Given the description of an element on the screen output the (x, y) to click on. 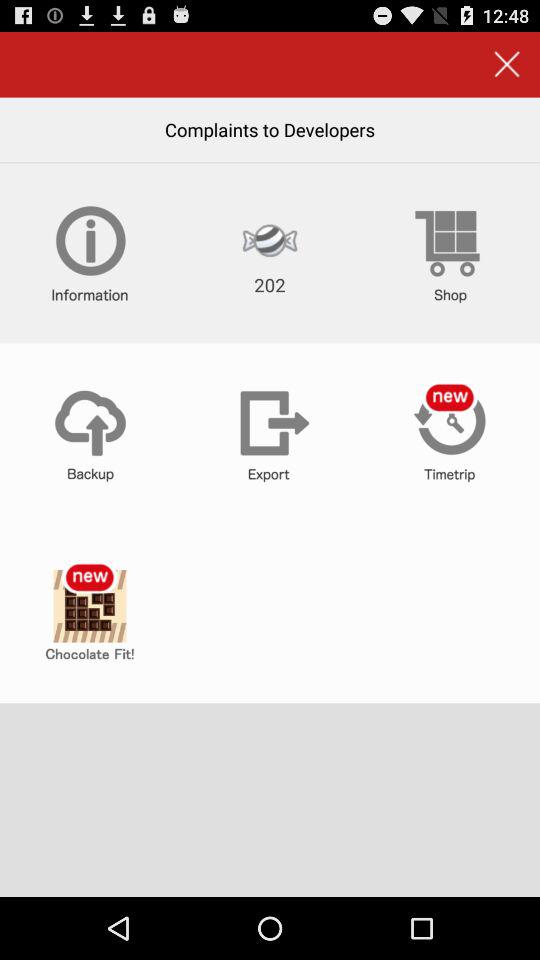
select to add time (450, 433)
